Given the description of an element on the screen output the (x, y) to click on. 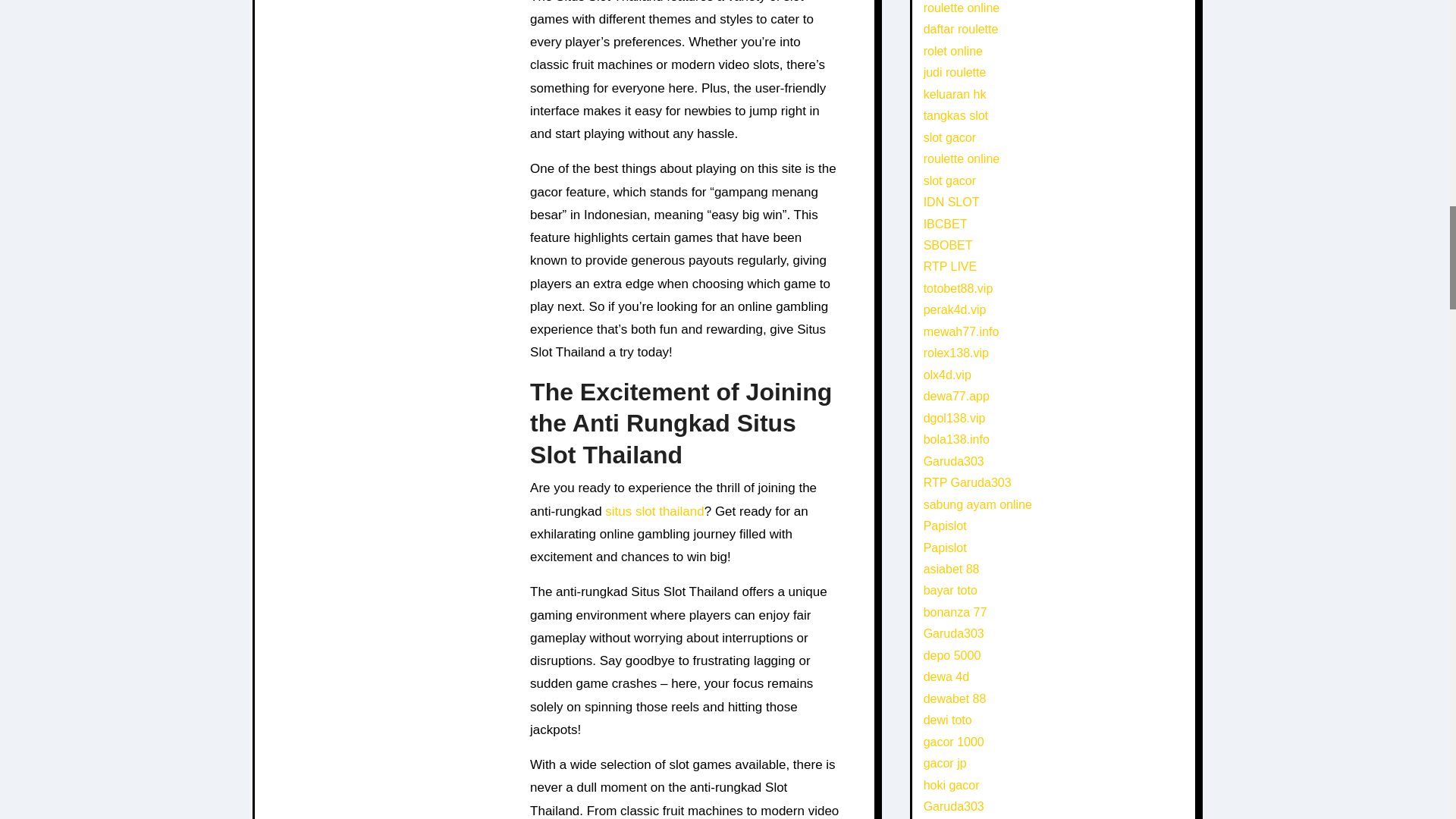
situs slot thailand (654, 511)
